Given the description of an element on the screen output the (x, y) to click on. 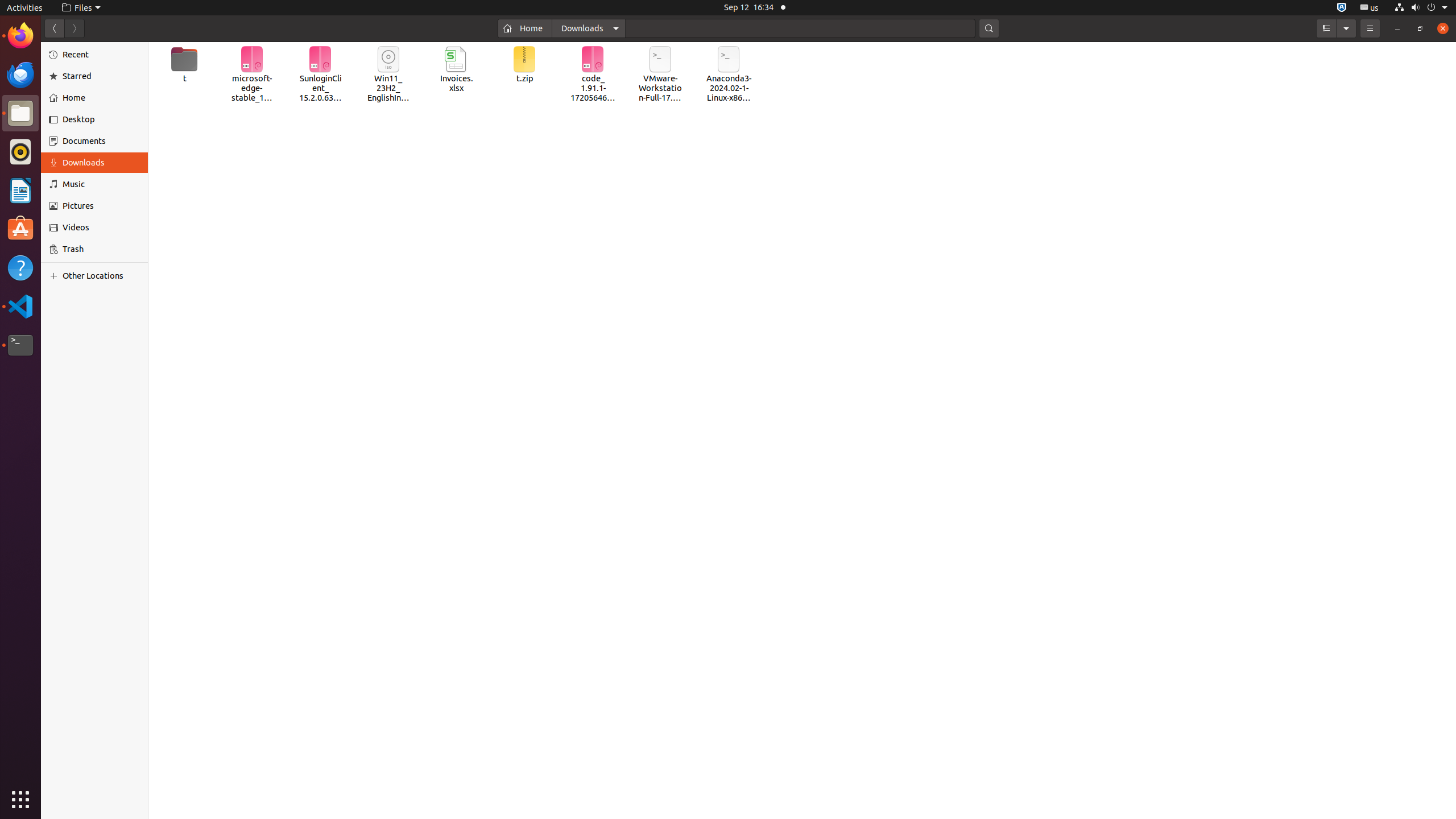
VMware-Workstation-Full-17.5.2-23775571.x86_64.bundle Element type: canvas (660, 74)
Win11_23H2_EnglishInternational_x64v2.iso Element type: canvas (388, 74)
Add Element type: icon (55, 275)
Desktop Element type: label (100, 119)
